Given the description of an element on the screen output the (x, y) to click on. 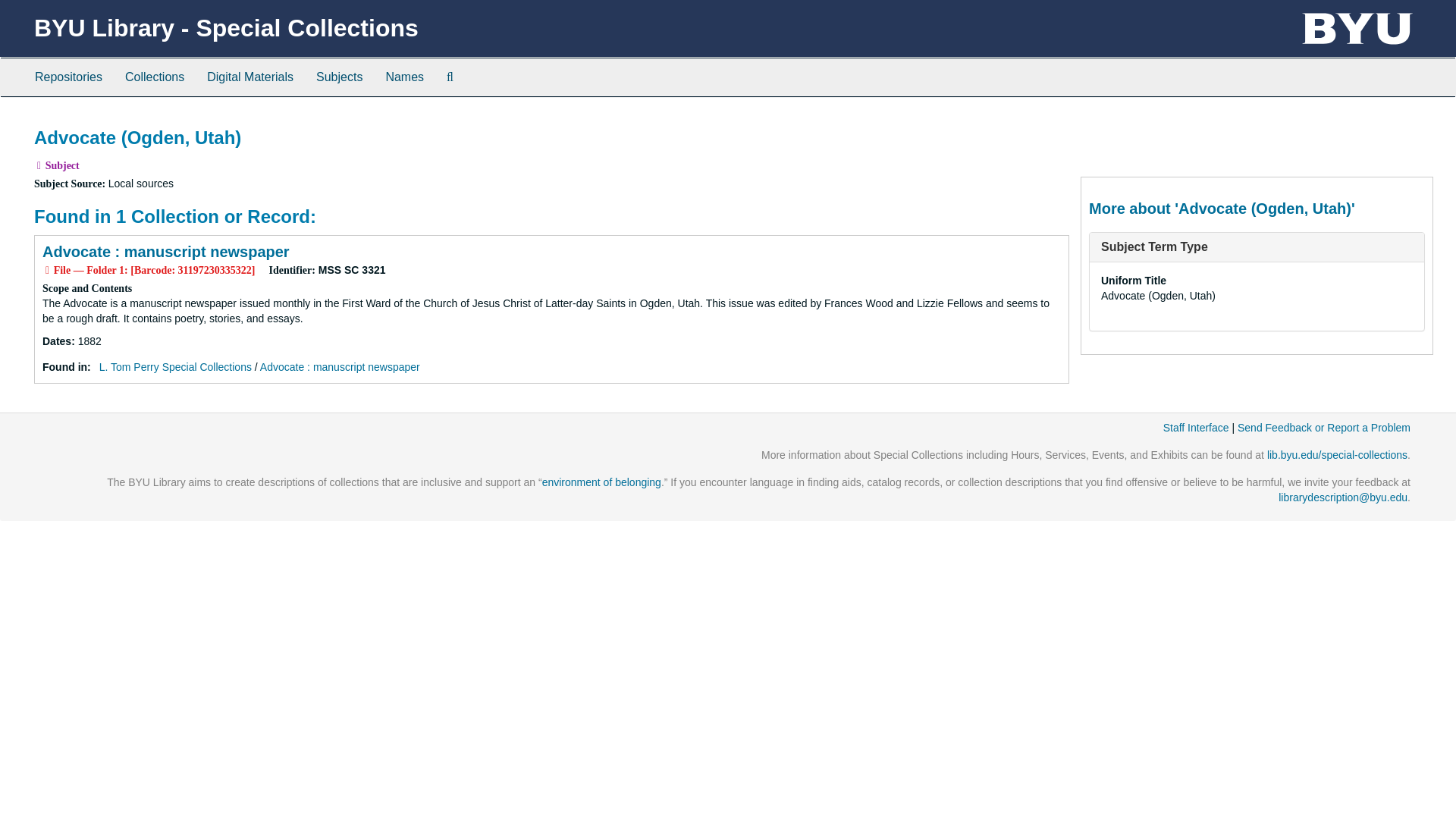
L. Tom Perry Special Collections (175, 367)
Advocate : manuscript newspaper (340, 367)
translation missing: en.dates (56, 340)
environment of belonging (601, 481)
Advocate : manuscript newspaper (165, 251)
Send Feedback or Report a Problem (1323, 427)
Return to the homepage (226, 27)
Collections (154, 77)
Staff Interface (1195, 427)
Page Actions (1139, 120)
